Given the description of an element on the screen output the (x, y) to click on. 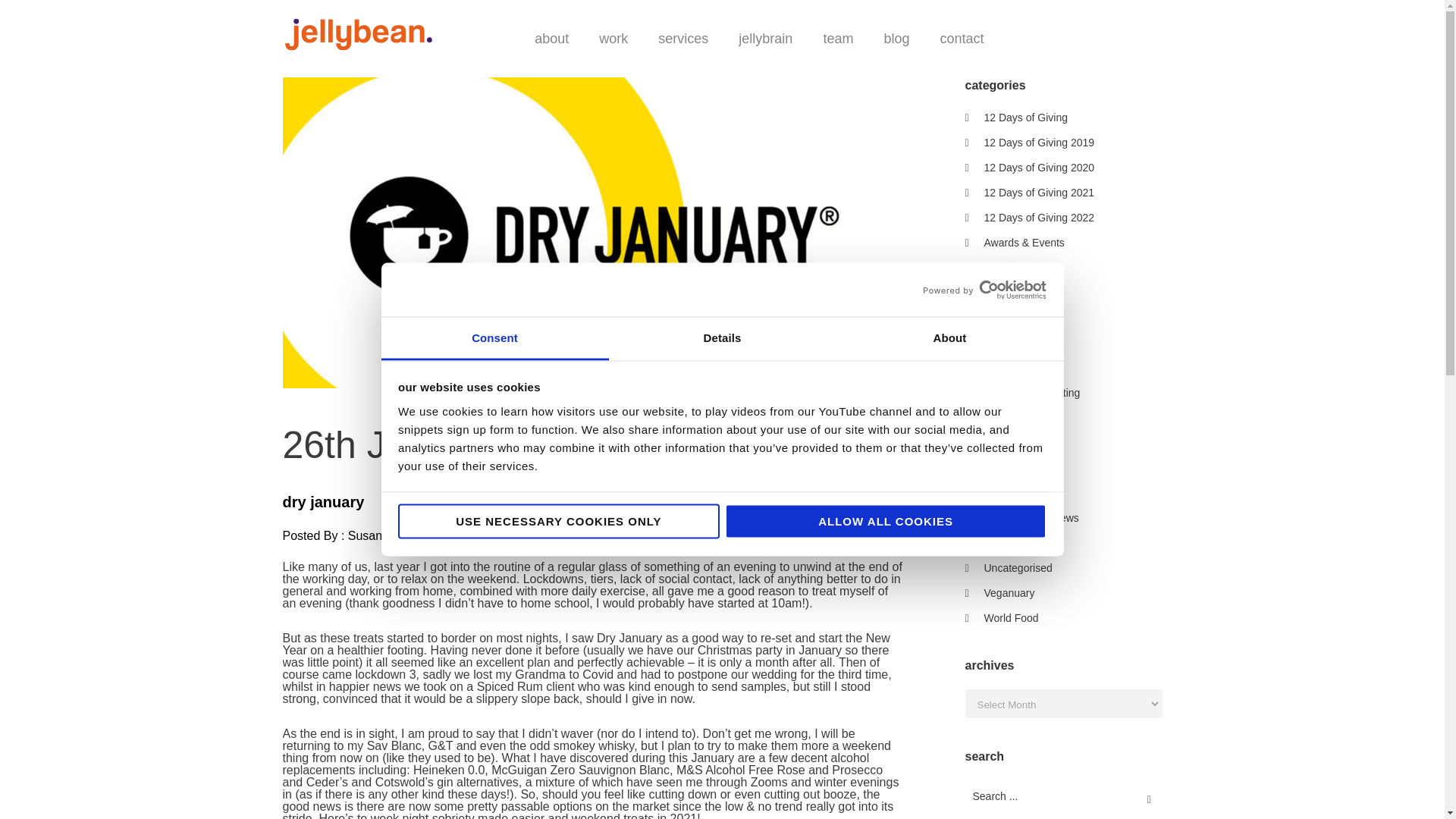
About (948, 338)
Consent (494, 338)
Details (721, 338)
